Given the description of an element on the screen output the (x, y) to click on. 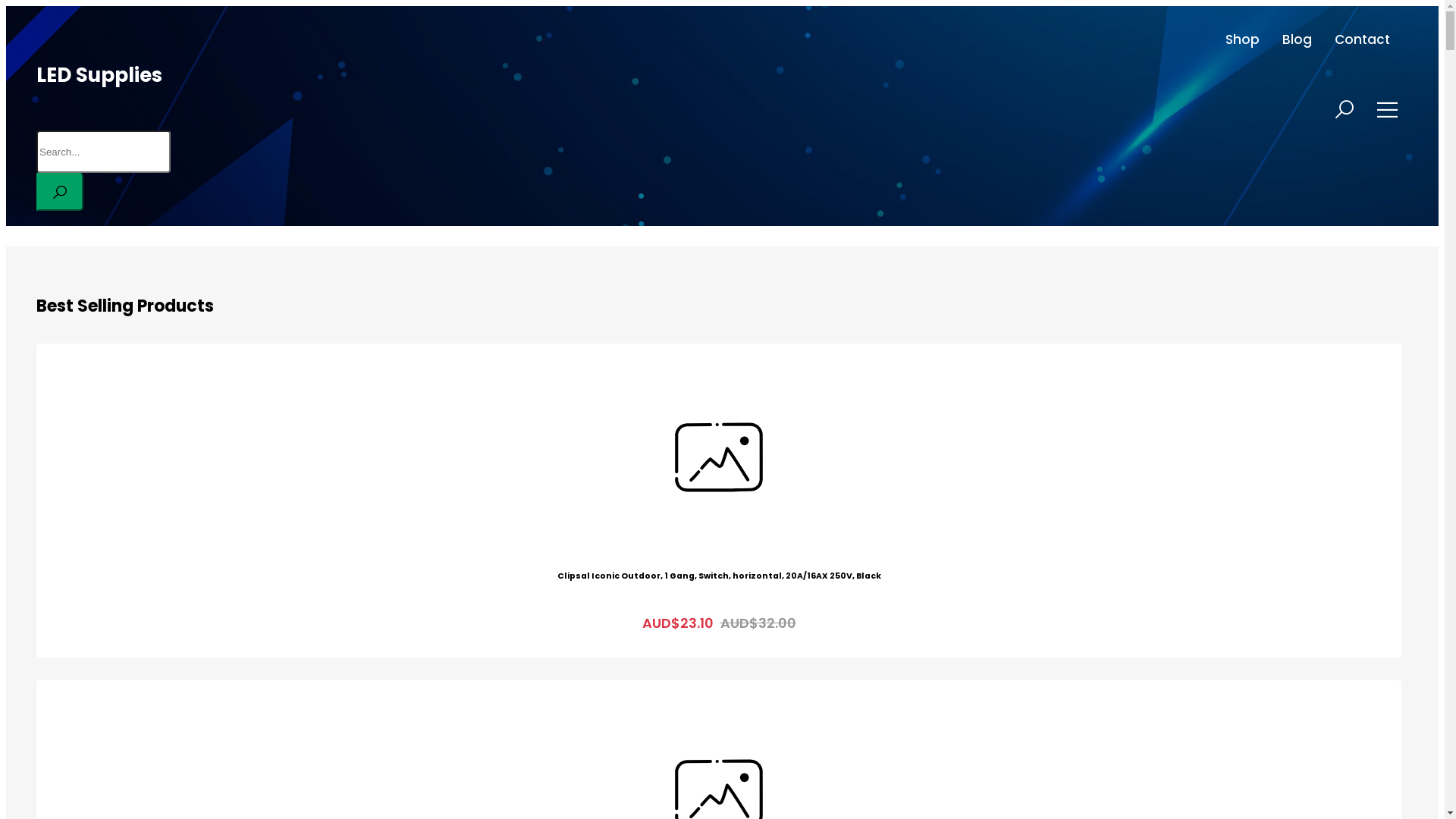
Contact Element type: text (1362, 39)
Shop Element type: text (1242, 39)
LED Supplies Element type: text (99, 74)
Blog Element type: text (1296, 39)
